Given the description of an element on the screen output the (x, y) to click on. 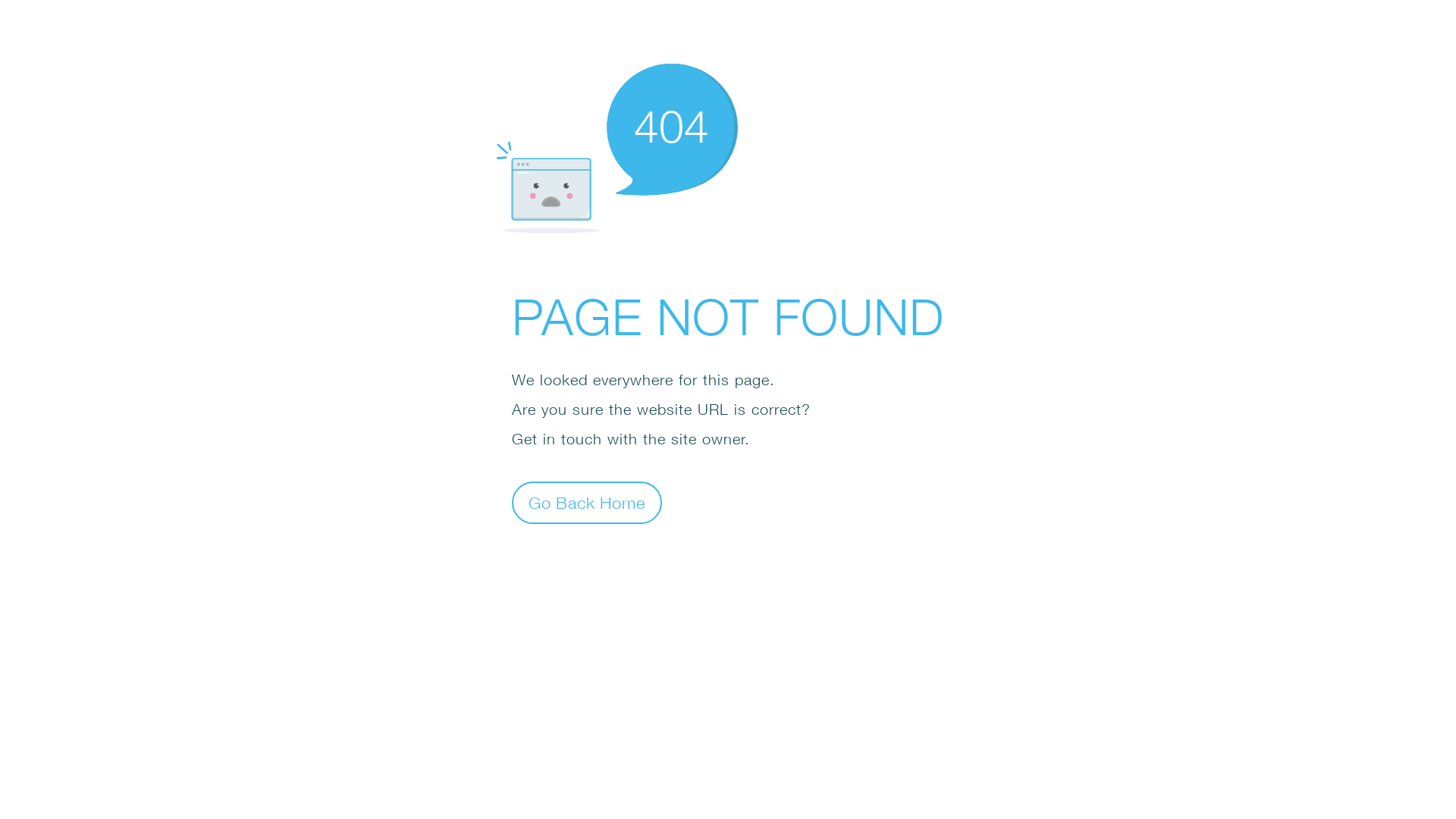
Go Back Home Element type: text (586, 502)
